Given the description of an element on the screen output the (x, y) to click on. 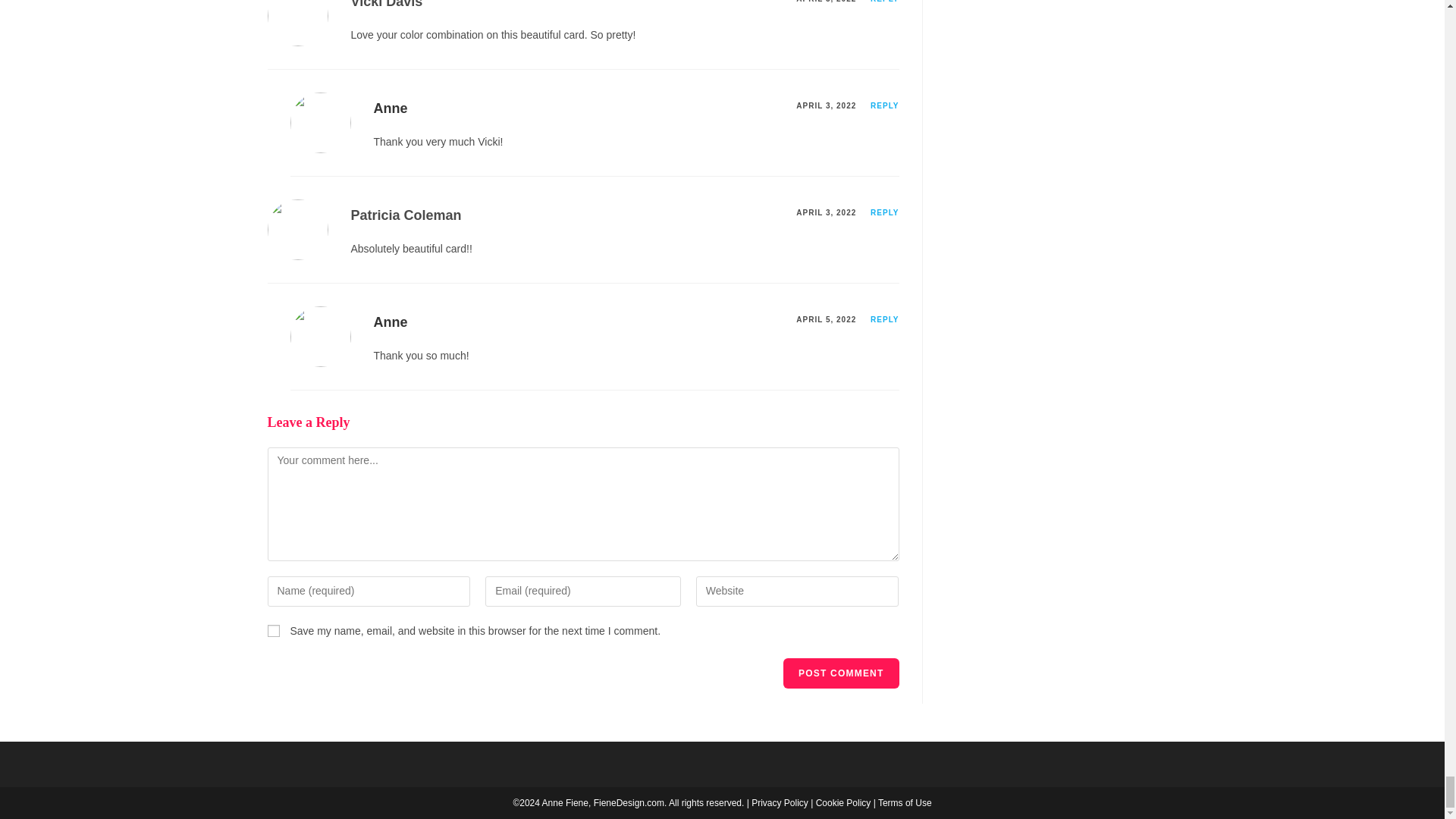
Post Comment (840, 673)
yes (272, 630)
